Given the description of an element on the screen output the (x, y) to click on. 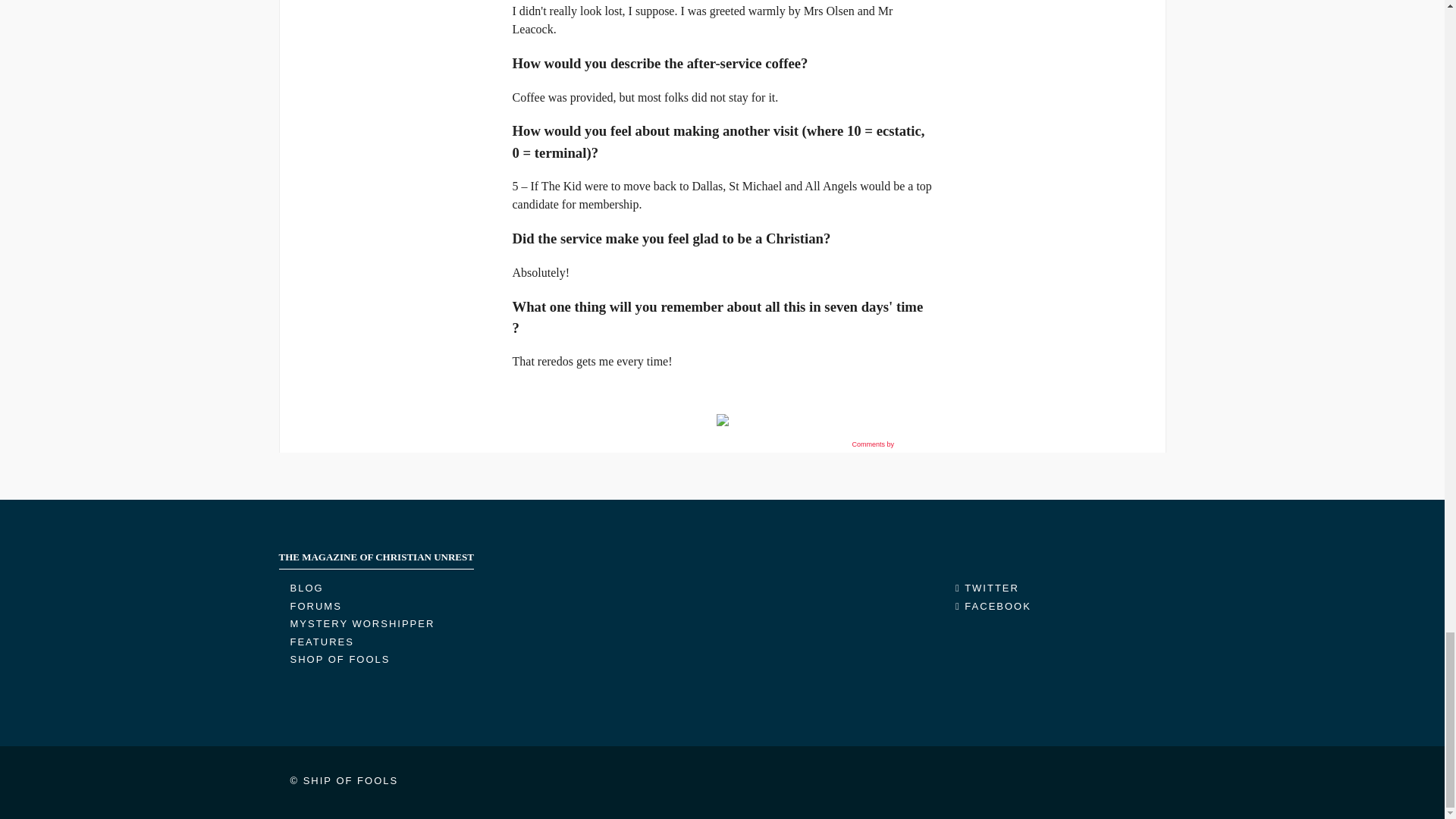
SHOP OF FOOLS (339, 659)
TWITTER (987, 587)
FORUMS (314, 605)
Comments by Vanilla (890, 443)
MYSTERY WORSHIPPER (361, 623)
BLOG (306, 587)
FACEBOOK (992, 605)
FEATURES (321, 641)
